Given the description of an element on the screen output the (x, y) to click on. 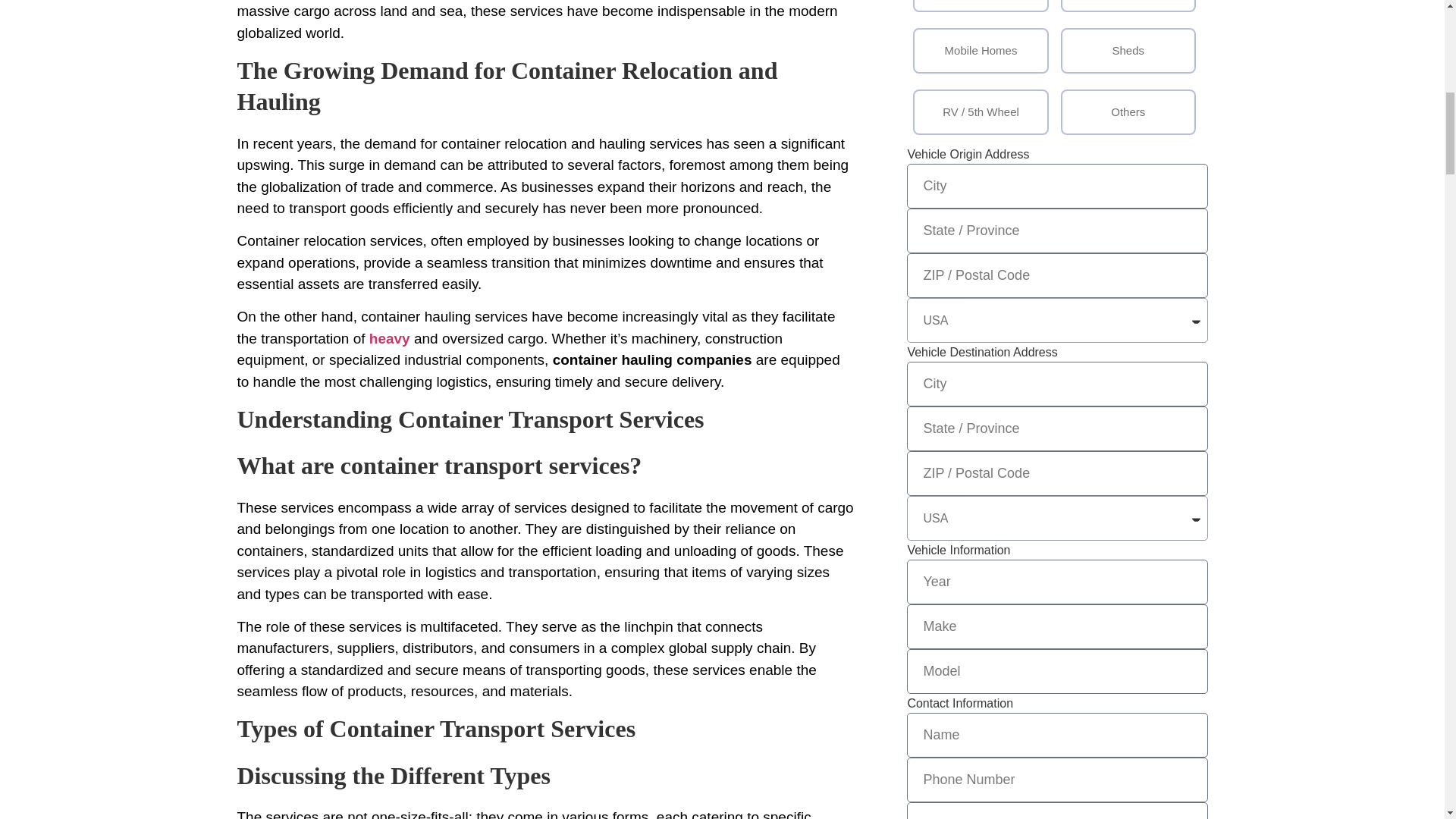
heavy (389, 338)
